Given the description of an element on the screen output the (x, y) to click on. 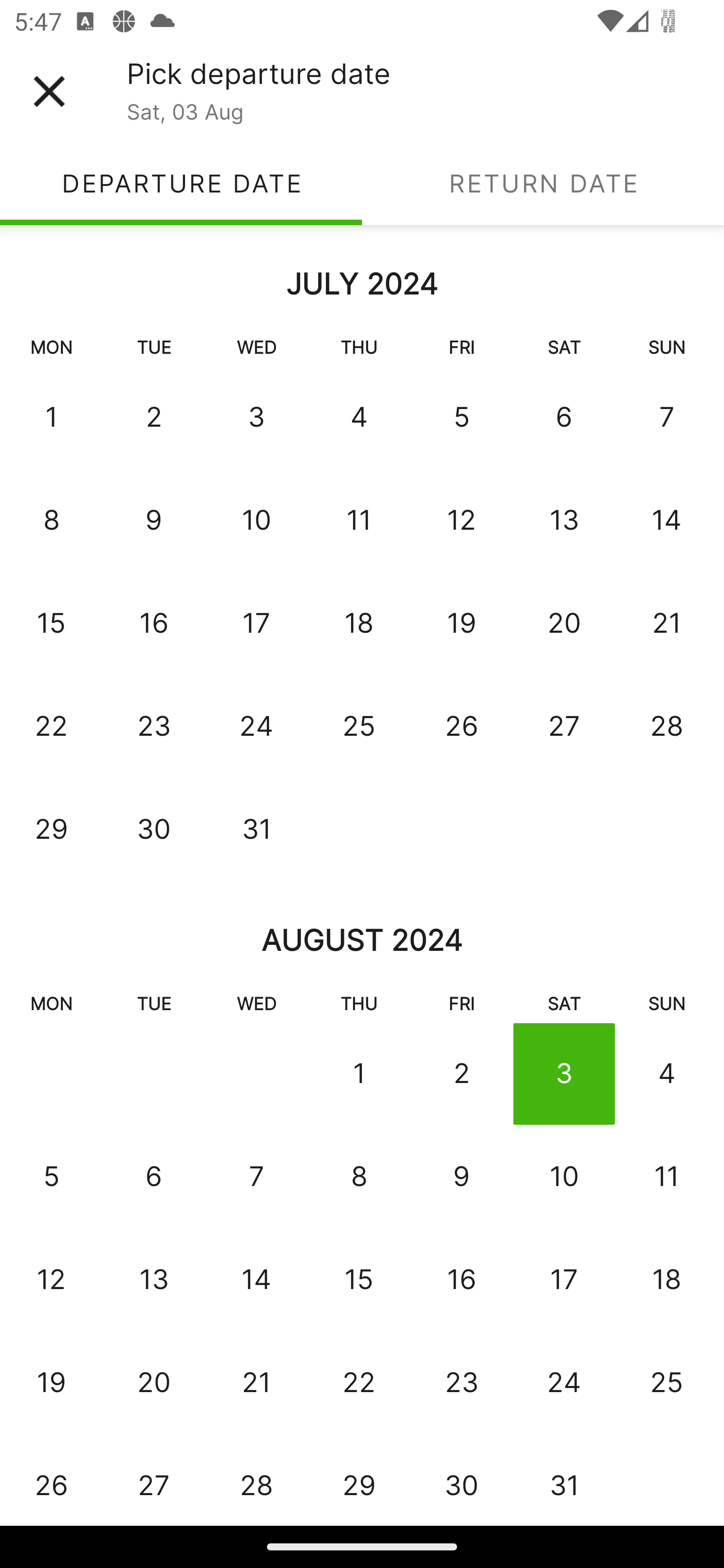
Return Date RETURN DATE (543, 183)
